Given the description of an element on the screen output the (x, y) to click on. 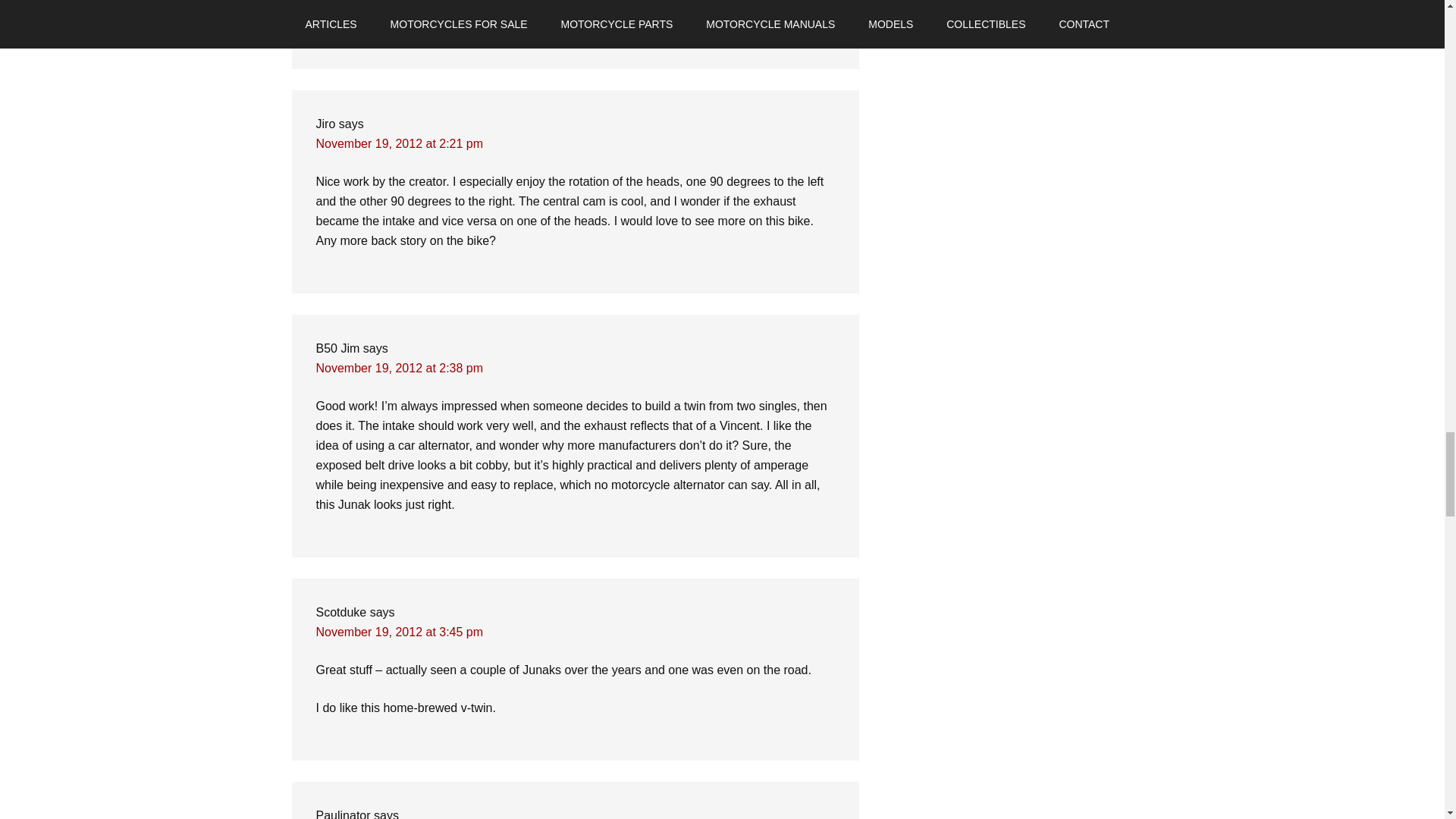
November 19, 2012 at 3:45 pm (399, 631)
November 19, 2012 at 2:21 pm (399, 143)
November 19, 2012 at 2:38 pm (399, 367)
